Given the description of an element on the screen output the (x, y) to click on. 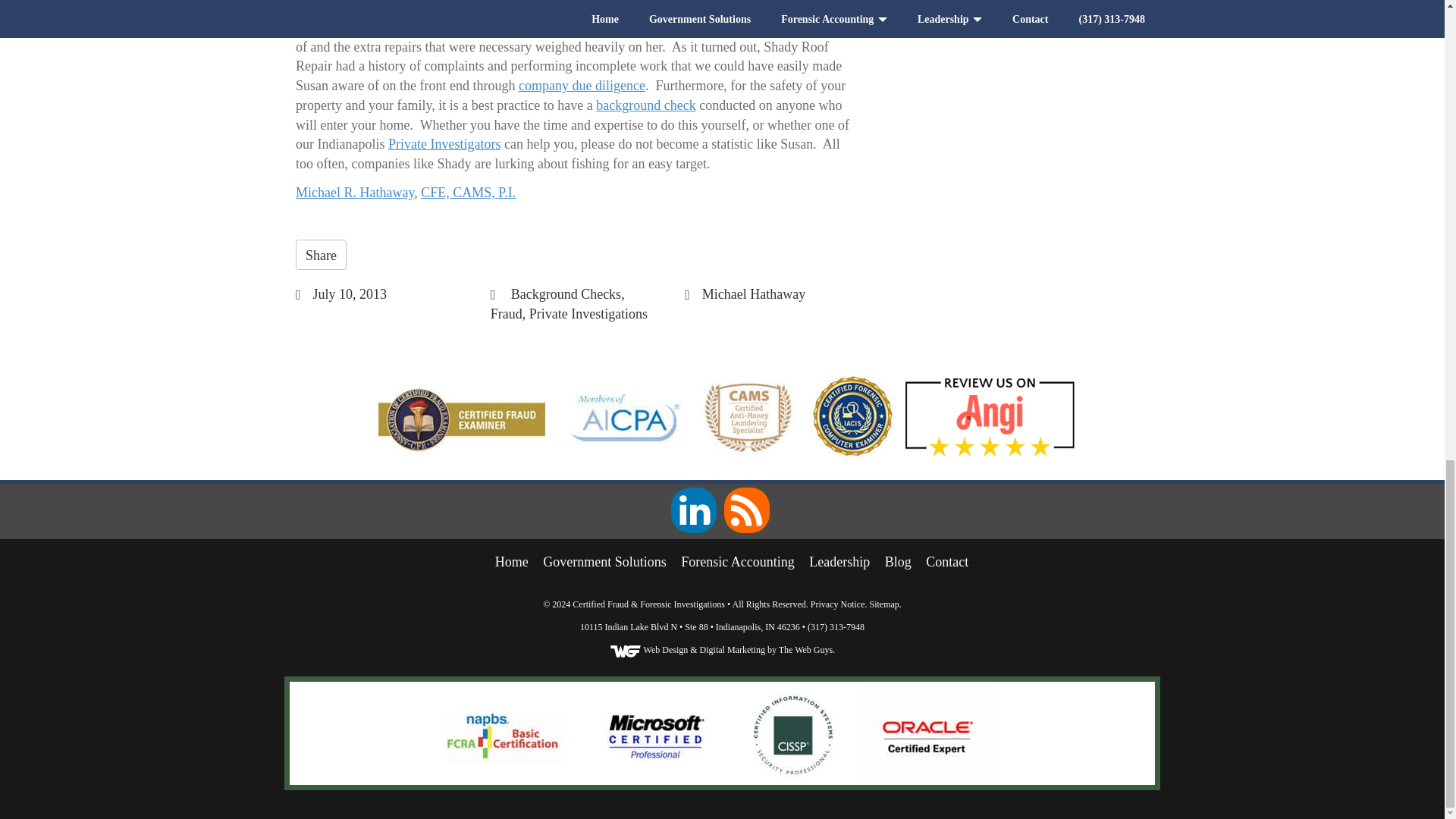
CFFI Background Checks (645, 105)
CPAs and Private Investigators Indianapolis (511, 561)
Background Checks (566, 294)
Our Blog (898, 561)
Fraud (506, 313)
Investigating Government Fraud (604, 561)
Share (320, 254)
background check (645, 105)
CFE, CAMS, P.I. (467, 192)
CFFI Background Checks (581, 85)
Forensic Accountant (737, 561)
CFFI Professionals (354, 192)
Michael Hathaway (753, 294)
CFFI Certifications (467, 192)
Our Staff (839, 561)
